Given the description of an element on the screen output the (x, y) to click on. 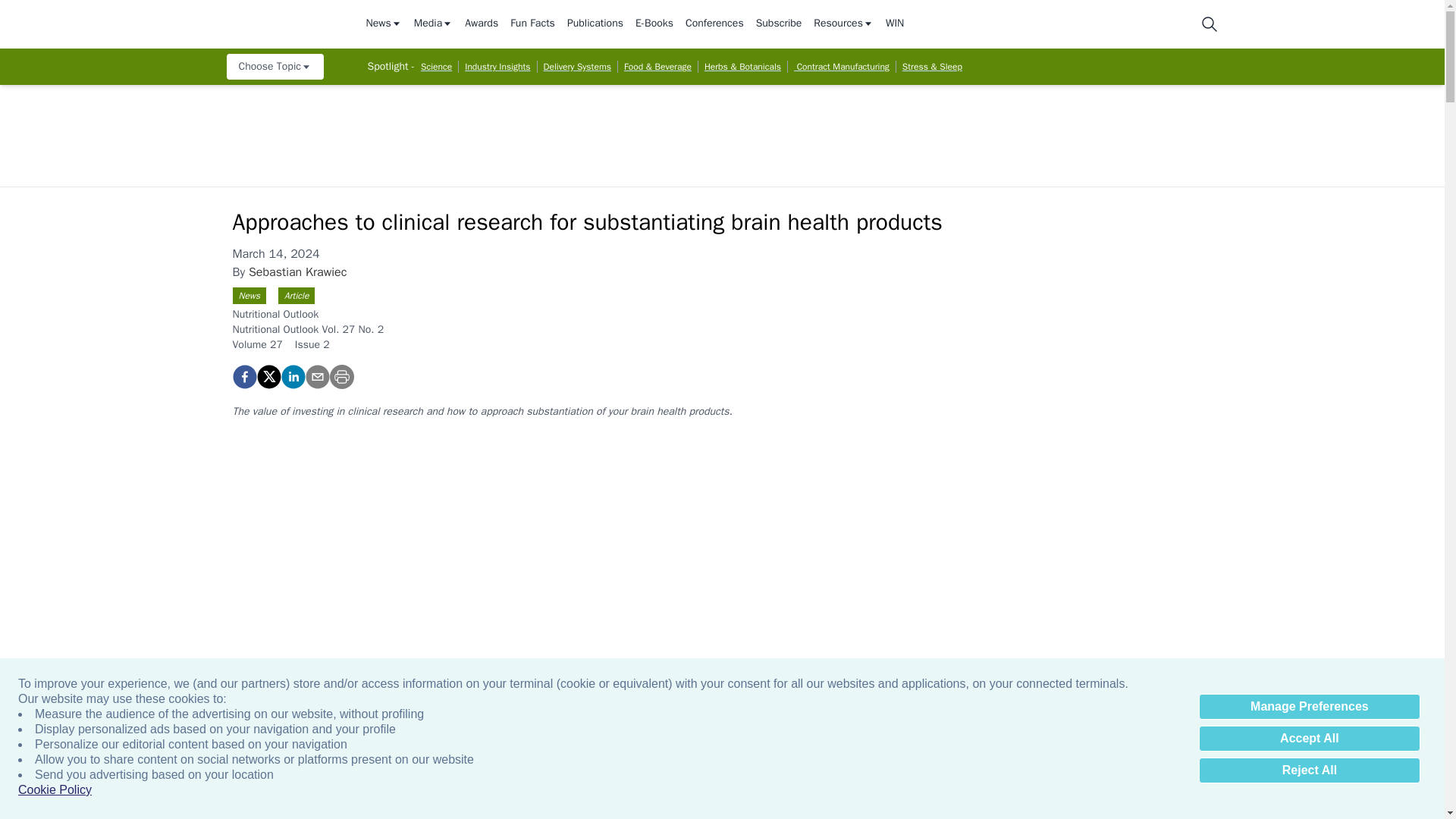
Cookie Policy (54, 789)
Resources (843, 23)
Accept All (1309, 738)
News (383, 23)
Choose Topic (274, 66)
Manage Preferences (1309, 706)
Subscribe (778, 23)
WIN (894, 23)
Conferences (714, 23)
Awards (480, 23)
